Given the description of an element on the screen output the (x, y) to click on. 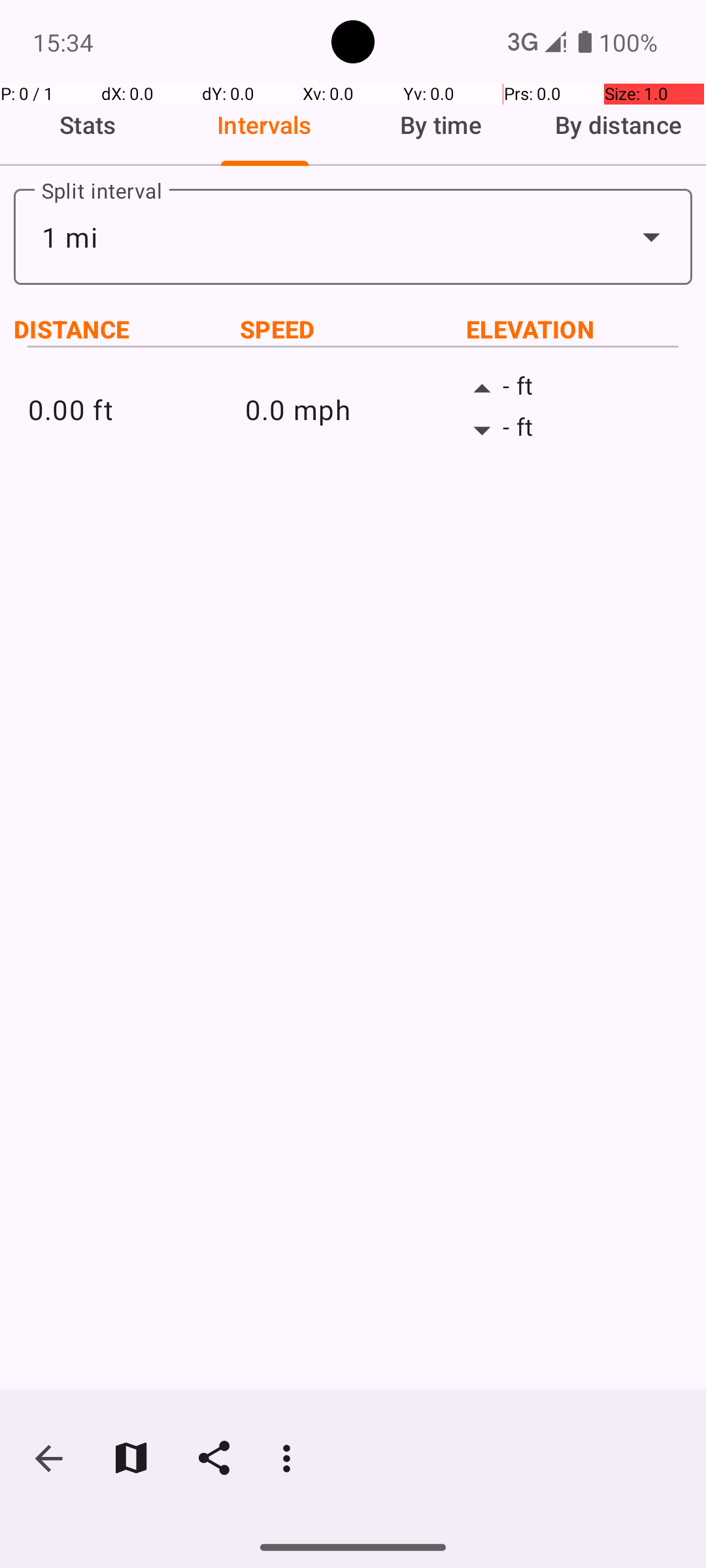
1 mi Element type: android.widget.Spinner (352, 236)
SPEED Element type: android.widget.TextView (352, 328)
ELEVATION Element type: android.widget.TextView (579, 328)
0.00 ft Element type: android.widget.TextView (135, 408)
0.0 mph Element type: android.widget.TextView (352, 408)
- ft Element type: android.widget.TextView (569, 388)
